Given the description of an element on the screen output the (x, y) to click on. 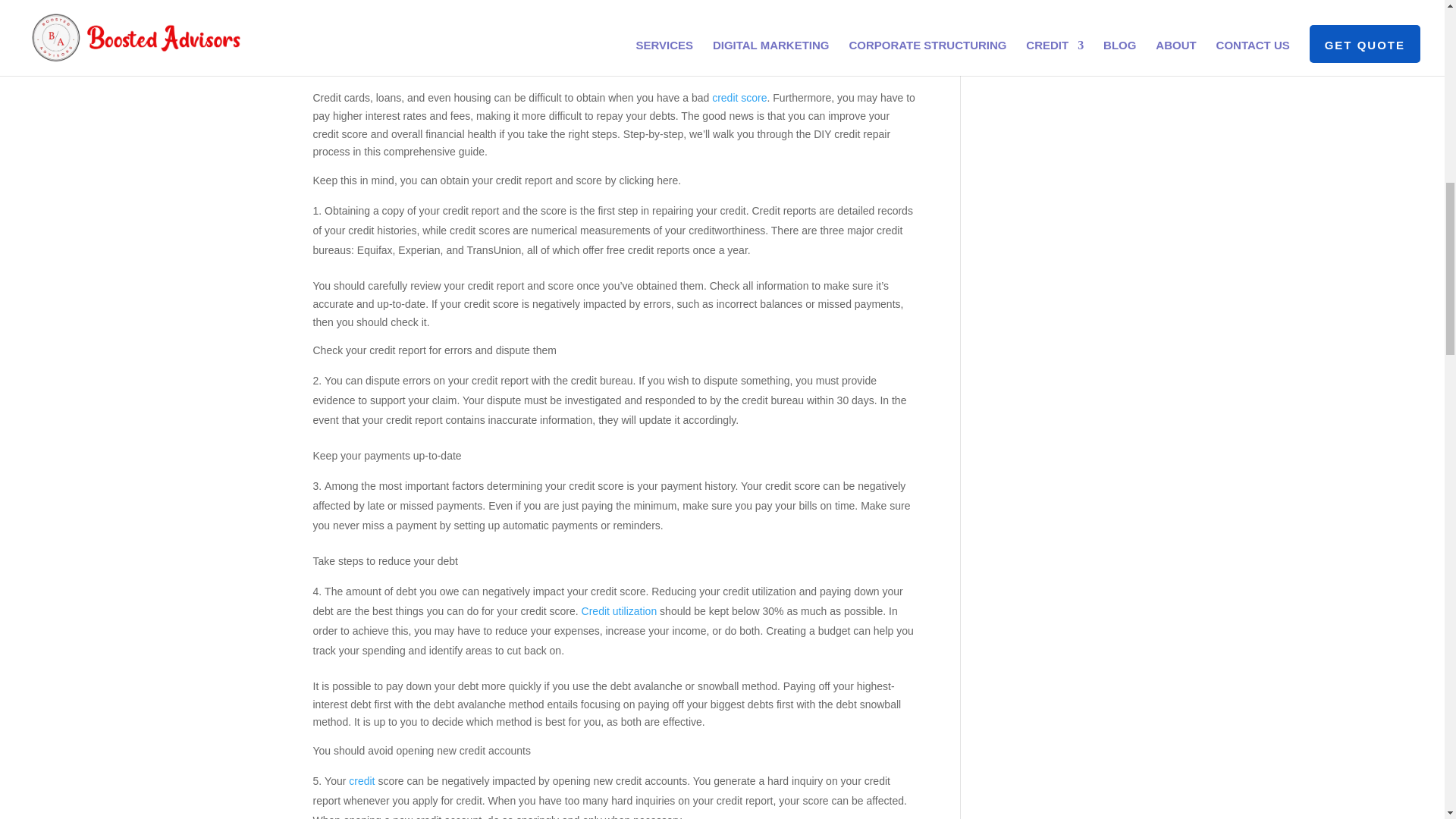
Credit utilization (619, 611)
credit score (670, 33)
credit (361, 780)
credit score (739, 97)
